Given the description of an element on the screen output the (x, y) to click on. 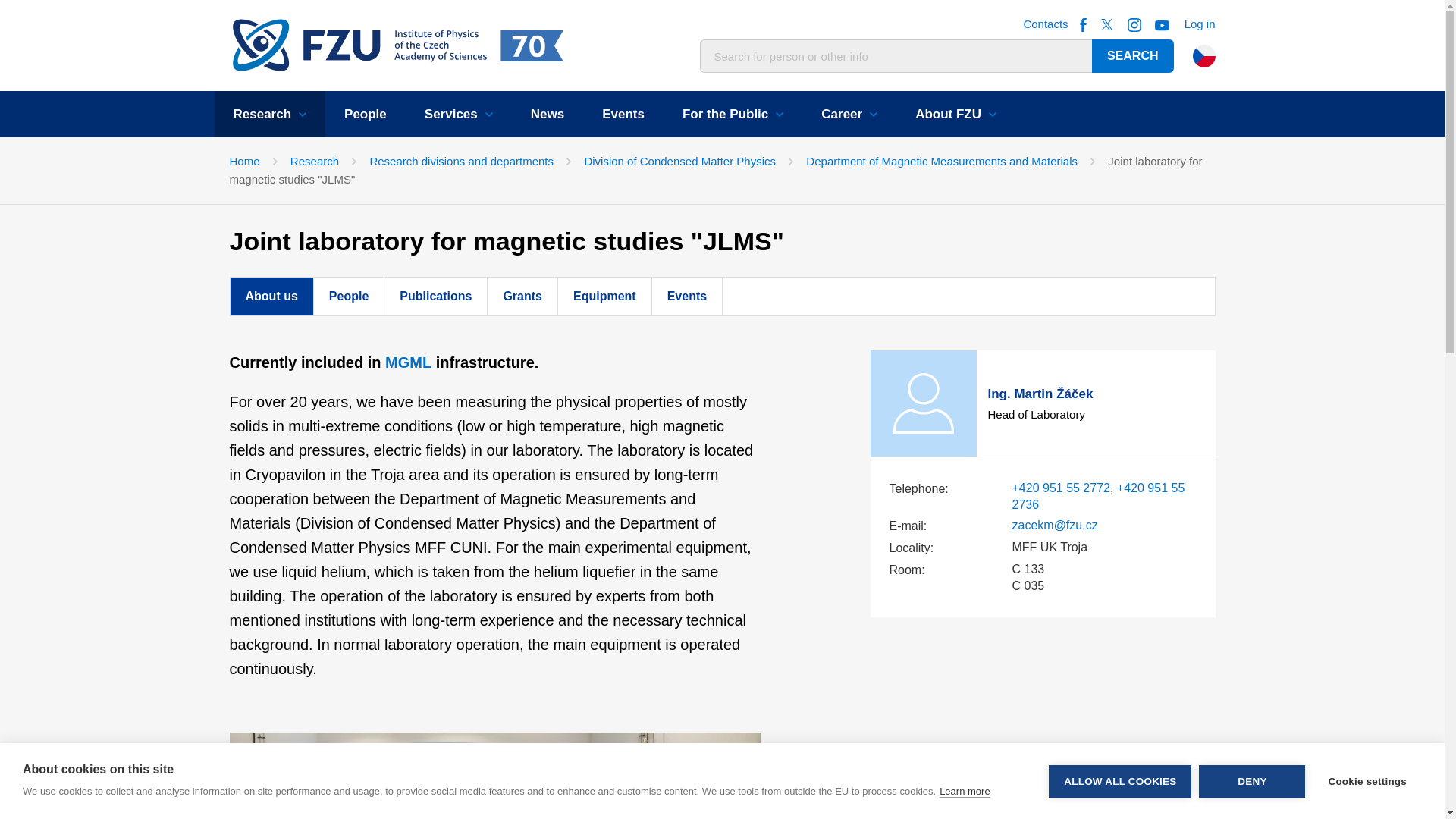
Twitter (1106, 24)
Instagram (1133, 24)
Log in (1200, 23)
Services (459, 113)
Search (1132, 55)
We are celebrating 70 years (526, 45)
Youtube (1161, 24)
News (547, 113)
People (365, 113)
Events (623, 113)
For the Public (732, 113)
Facebook (1083, 24)
Search (1132, 55)
Home (359, 45)
